Given the description of an element on the screen output the (x, y) to click on. 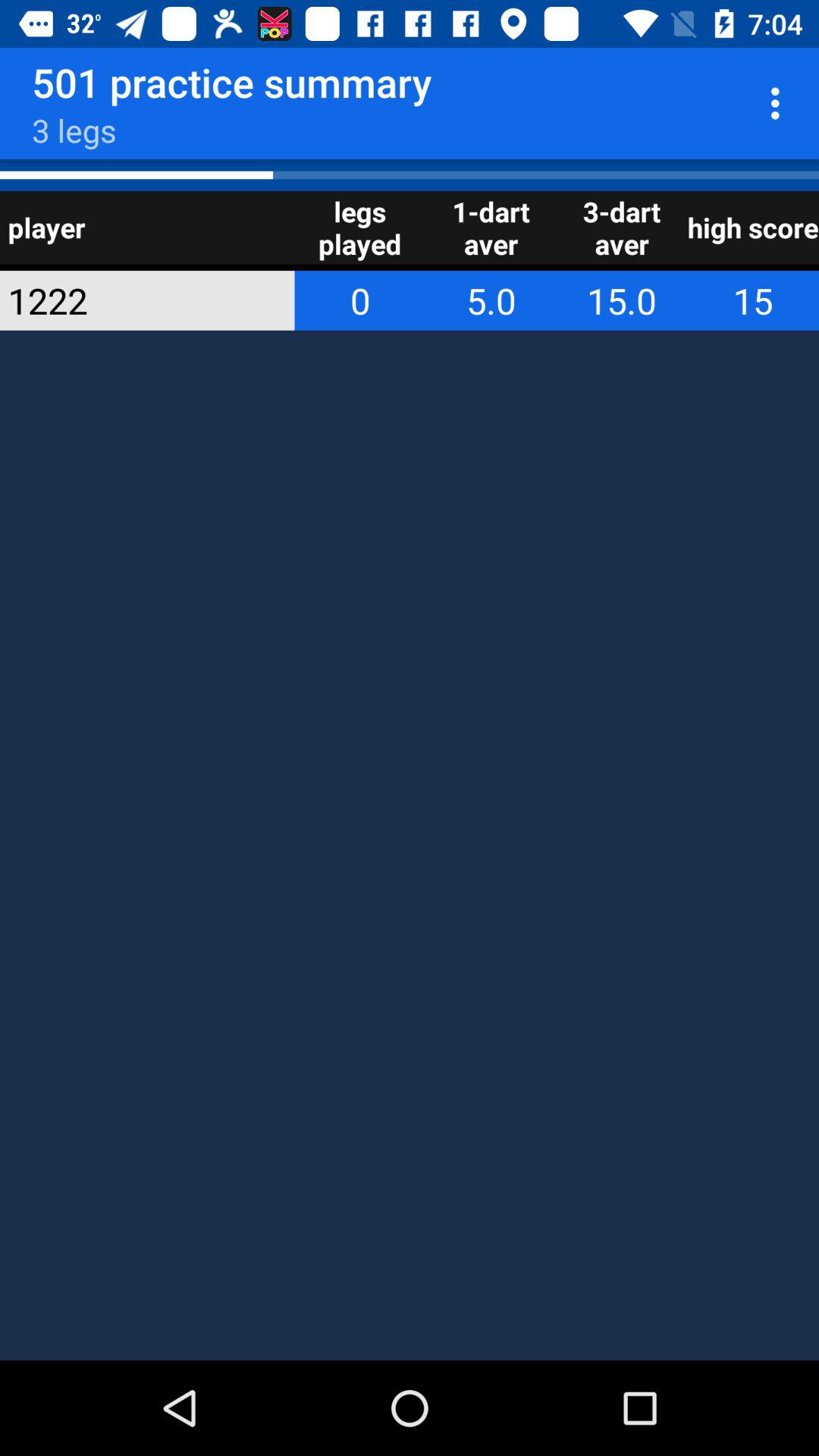
flip until the 1222 item (126, 300)
